Given the description of an element on the screen output the (x, y) to click on. 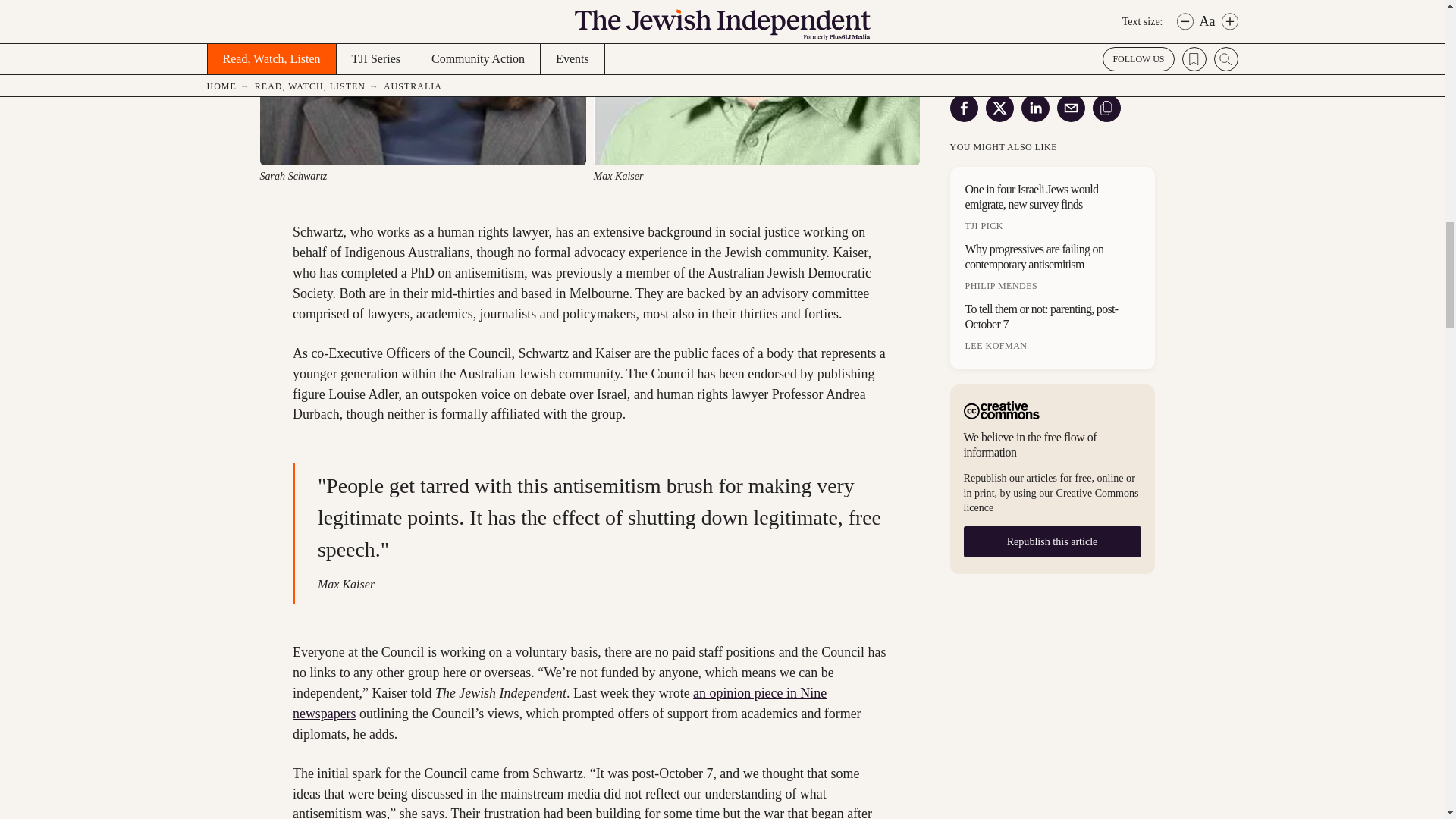
an opinion piece in Nine newspapers (559, 703)
